Given the description of an element on the screen output the (x, y) to click on. 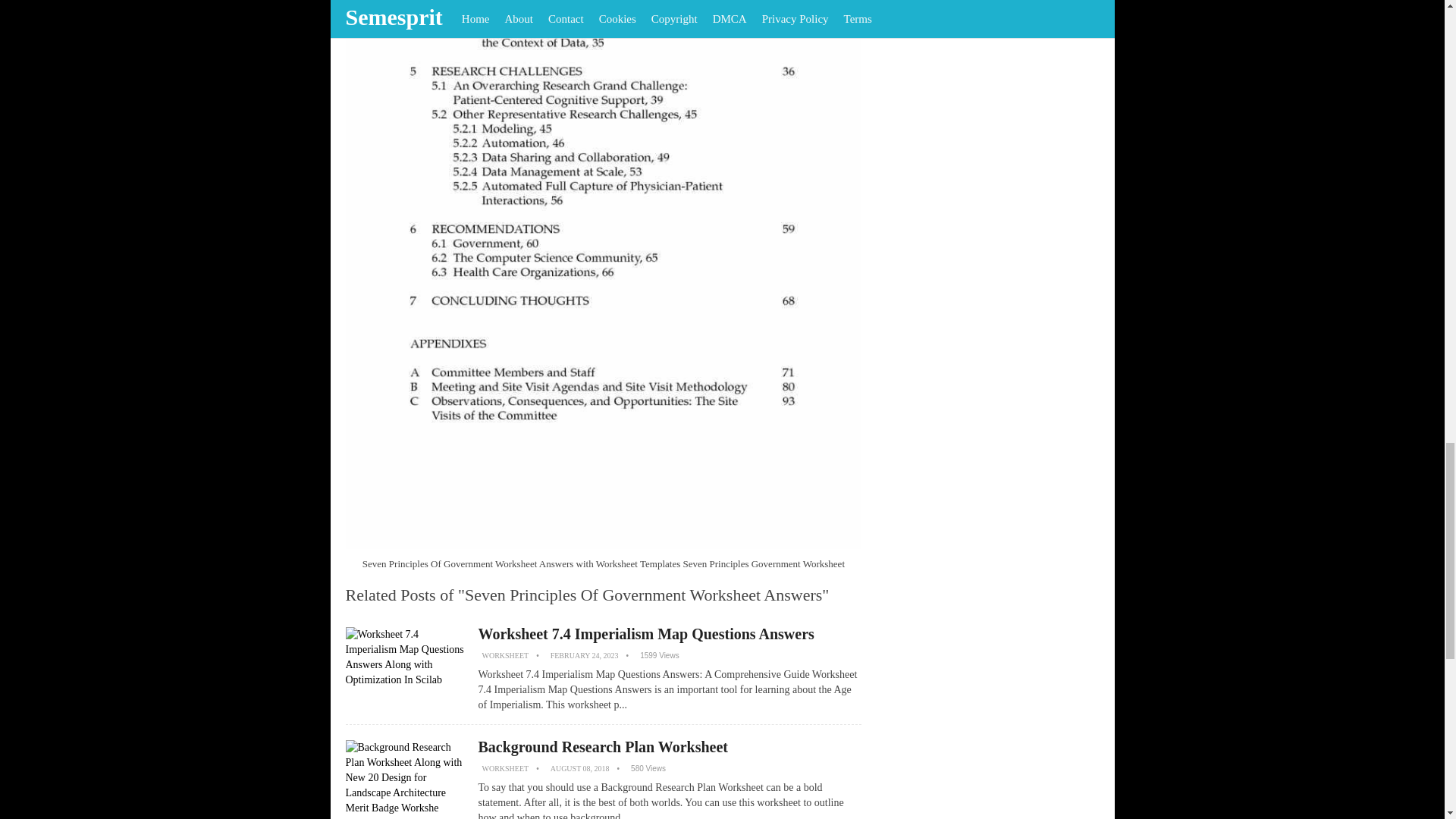
Worksheet 7.4 Imperialism Map Questions Answers (645, 633)
WORKSHEET (505, 768)
WORKSHEET (505, 655)
Background Research Plan Worksheet (601, 746)
